Given the description of an element on the screen output the (x, y) to click on. 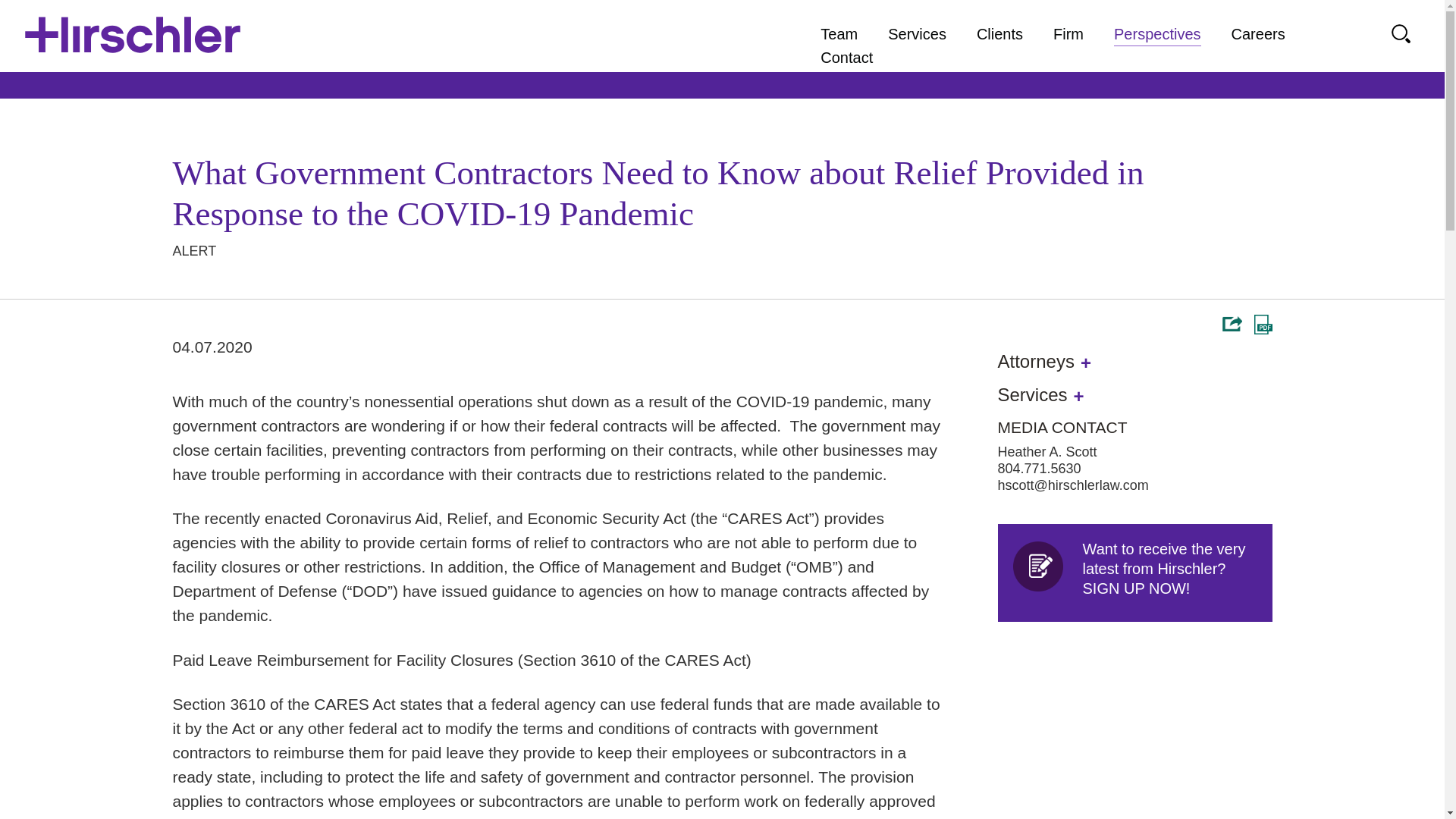
Share (1232, 322)
Perspectives (1157, 33)
Team (839, 33)
Print PDF (1262, 324)
Clients (999, 33)
Firm (1067, 33)
Share (1232, 322)
Services (1134, 572)
